Given the description of an element on the screen output the (x, y) to click on. 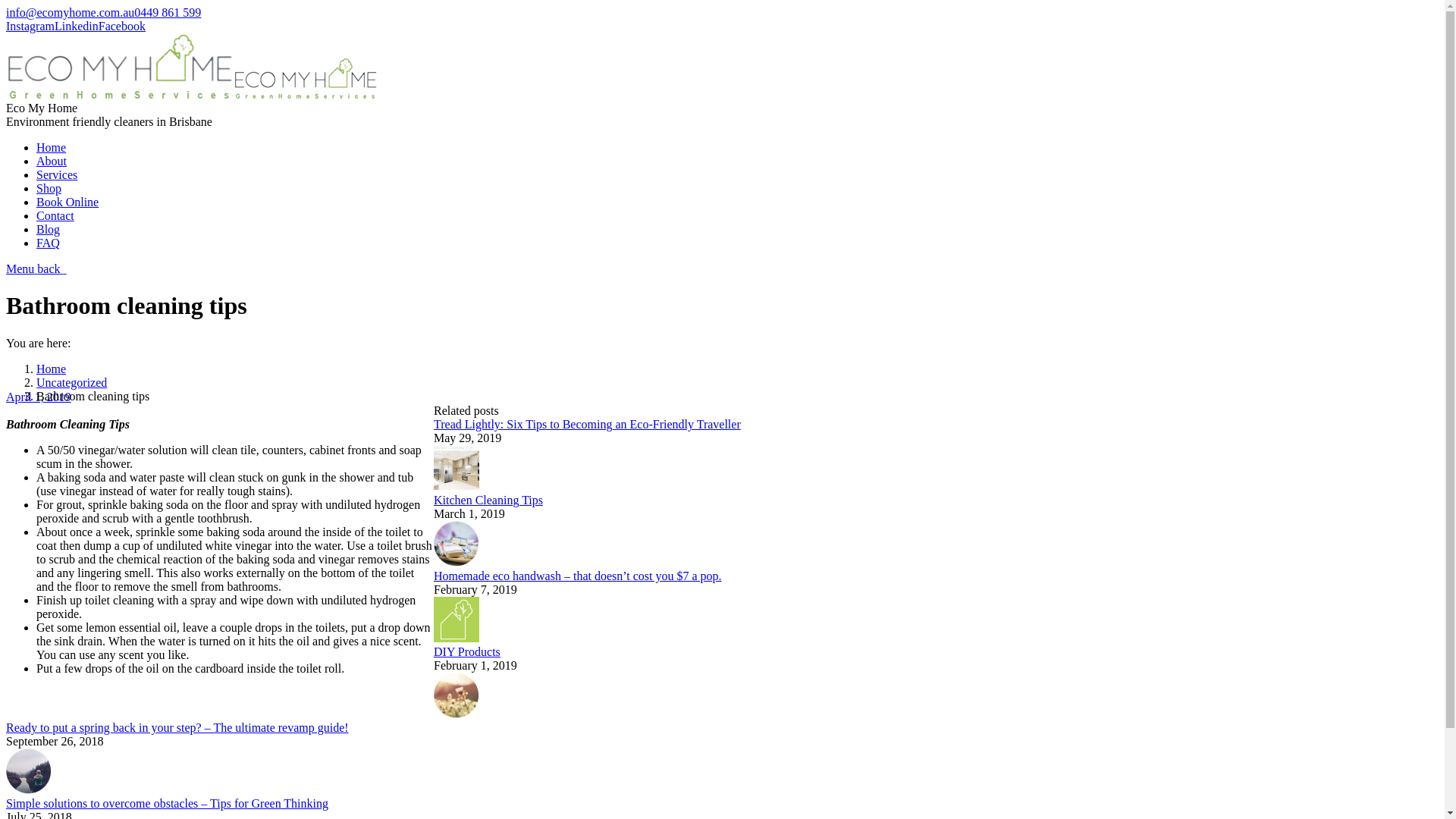
Book Online Element type: text (67, 201)
DIY Products Element type: text (466, 651)
Linkedin Element type: text (76, 25)
Kitchen Cleaning Tips Element type: text (487, 499)
info@ecomyhome.com.au Element type: text (70, 12)
Home Element type: text (50, 147)
0449 861 599 Element type: text (167, 12)
Uncategorized Element type: text (71, 382)
FAQ Element type: text (47, 242)
Services Element type: text (56, 174)
About Element type: text (51, 160)
Blog Element type: text (47, 228)
April 1, 2019 Element type: text (38, 396)
Facebook Element type: text (121, 25)
Shop Element type: text (48, 188)
Home Element type: text (50, 368)
Menu back   Element type: text (36, 268)
Instagram Element type: text (30, 25)
Contact Element type: text (55, 215)
